Given the description of an element on the screen output the (x, y) to click on. 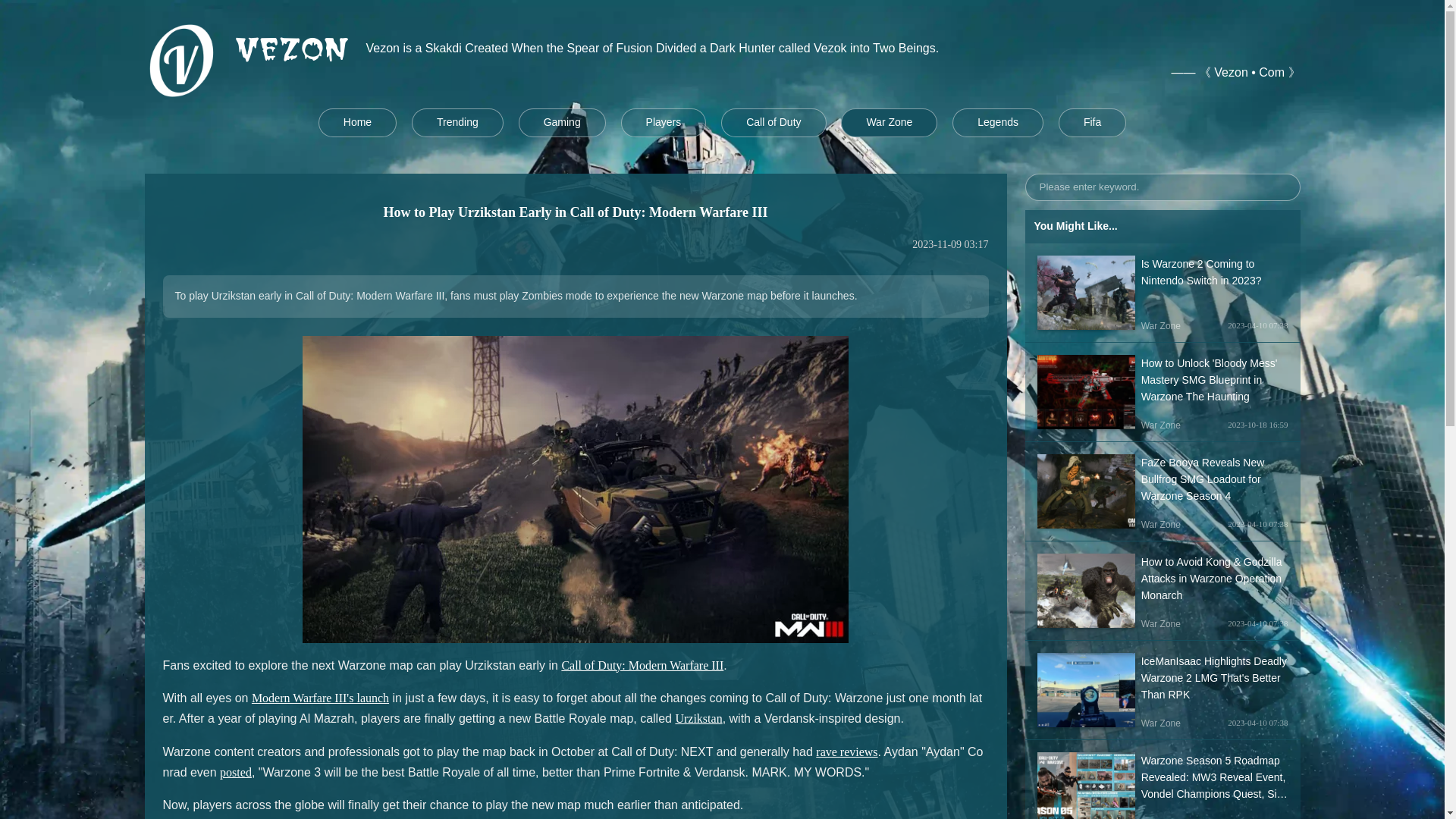
Home (357, 122)
Call of Duty (772, 122)
Fifa (1091, 122)
Urzikstan (698, 717)
Legends (997, 122)
Players (663, 122)
Trending (457, 122)
Modern Warfare III's launch (319, 697)
rave reviews (846, 751)
War Zone (889, 122)
Gaming (561, 122)
posted (235, 771)
Call of Duty: Modern Warfare III (641, 665)
